Given the description of an element on the screen output the (x, y) to click on. 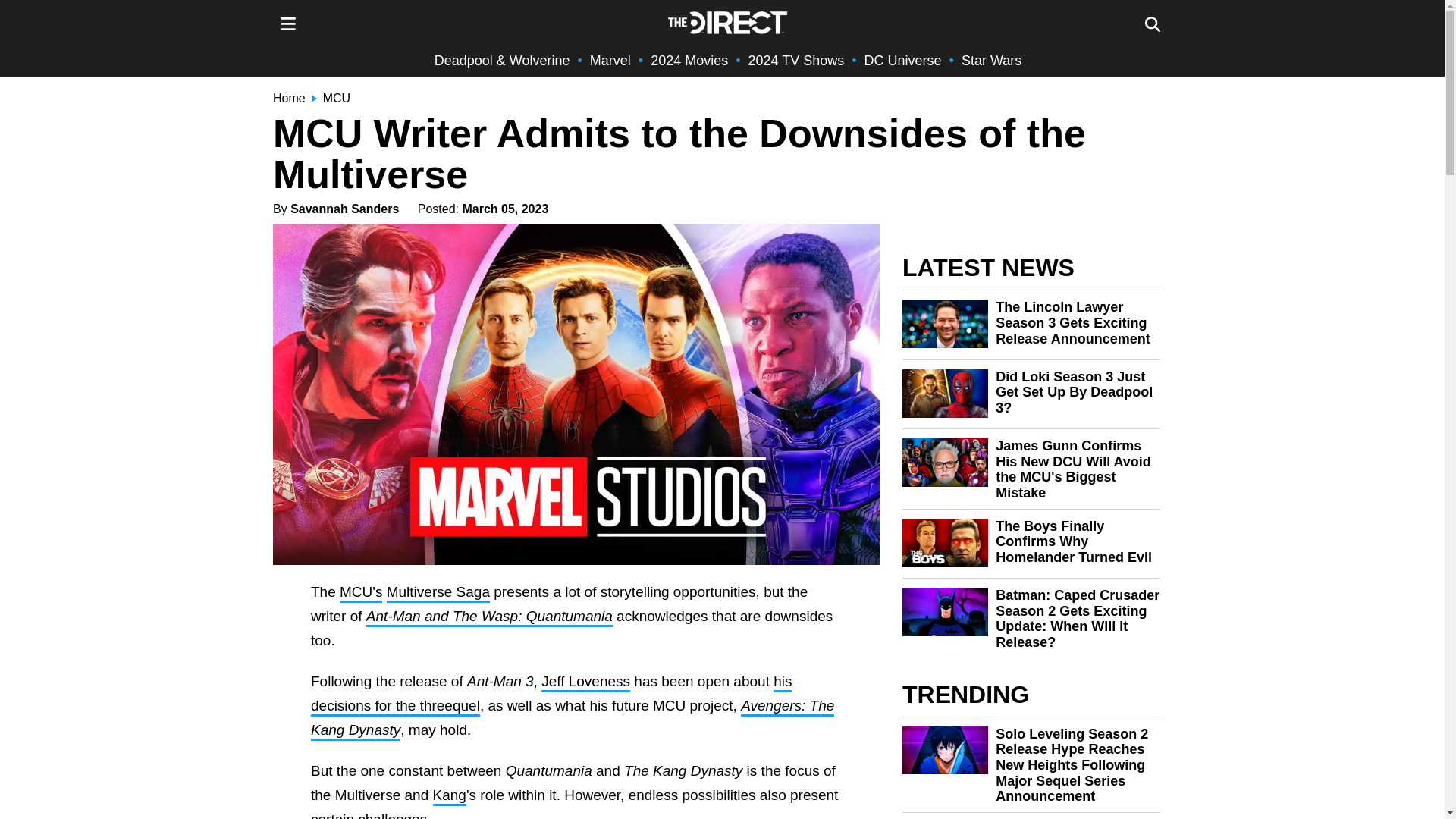
Marvel (609, 60)
2024 Movies (689, 60)
Star Wars (991, 60)
2024 TV Shows (796, 60)
DC Universe (903, 60)
